Given the description of an element on the screen output the (x, y) to click on. 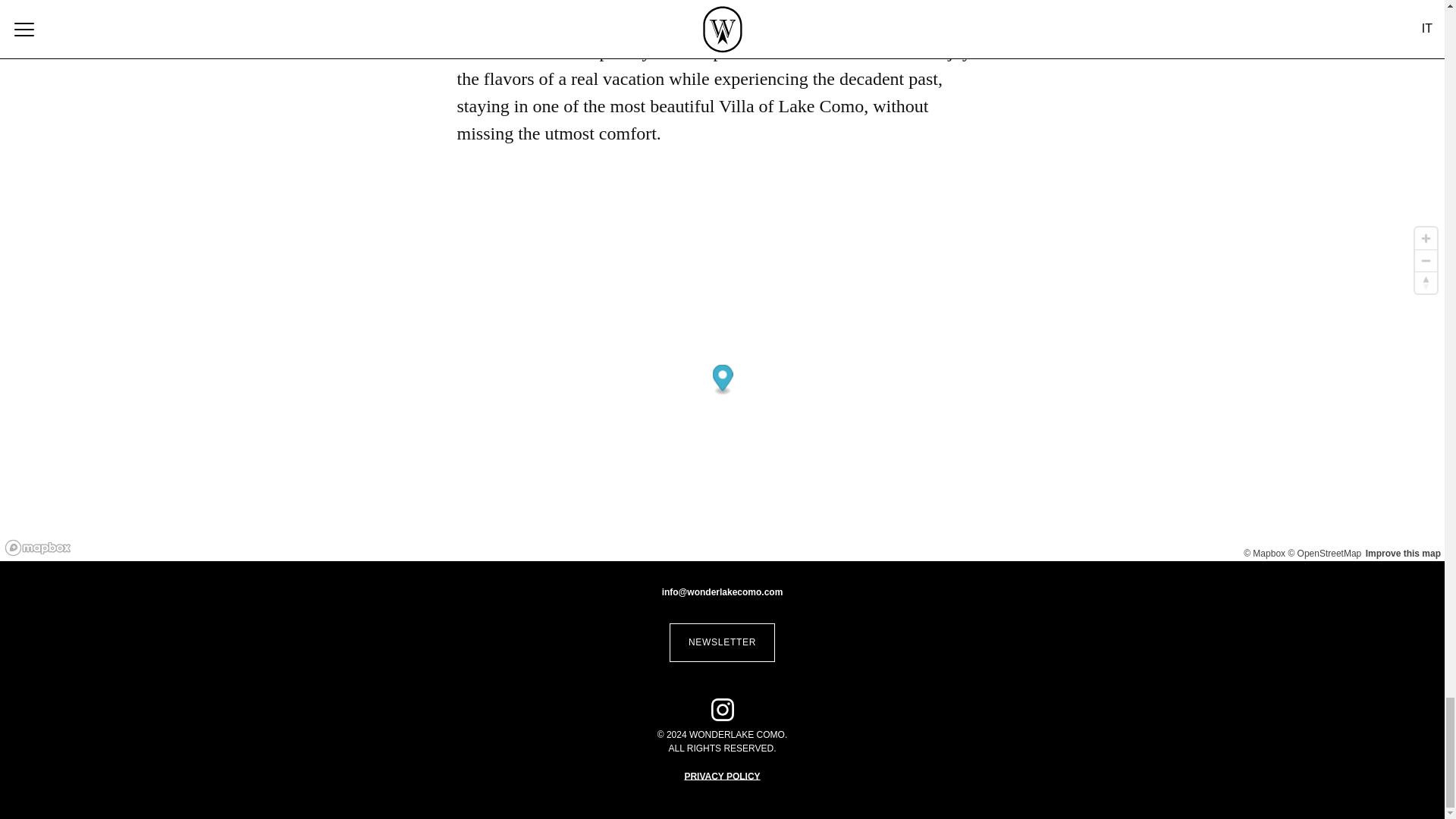
Reset bearing to north (1426, 282)
Grand Hotel Tremezzo (716, 18)
Mapbox (1264, 552)
OpenStreetMap (1324, 552)
Improve this map (1403, 552)
Improve this map (1403, 552)
Zoom in (1426, 238)
NEWSLETTER (721, 642)
Zoom out (1426, 260)
PRIVACY POLICY (722, 775)
Instagram icon (722, 709)
